Given the description of an element on the screen output the (x, y) to click on. 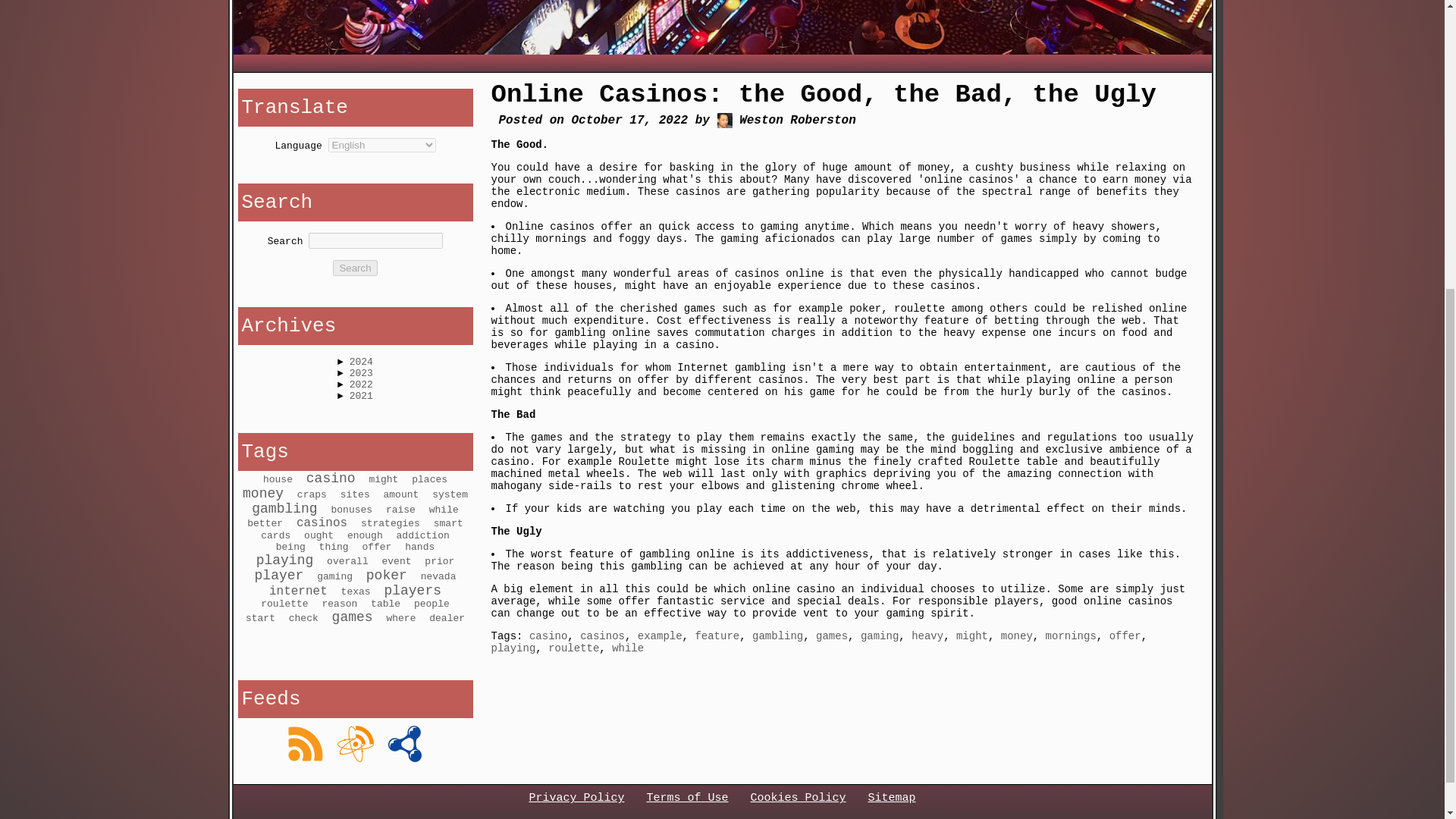
gambling (777, 635)
feature (716, 635)
example (659, 635)
RDF Feed (405, 743)
playing (513, 648)
gaming (879, 635)
Weston Roberston (724, 120)
Rss Feed (304, 743)
2023 (360, 373)
casino (548, 635)
